Given the description of an element on the screen output the (x, y) to click on. 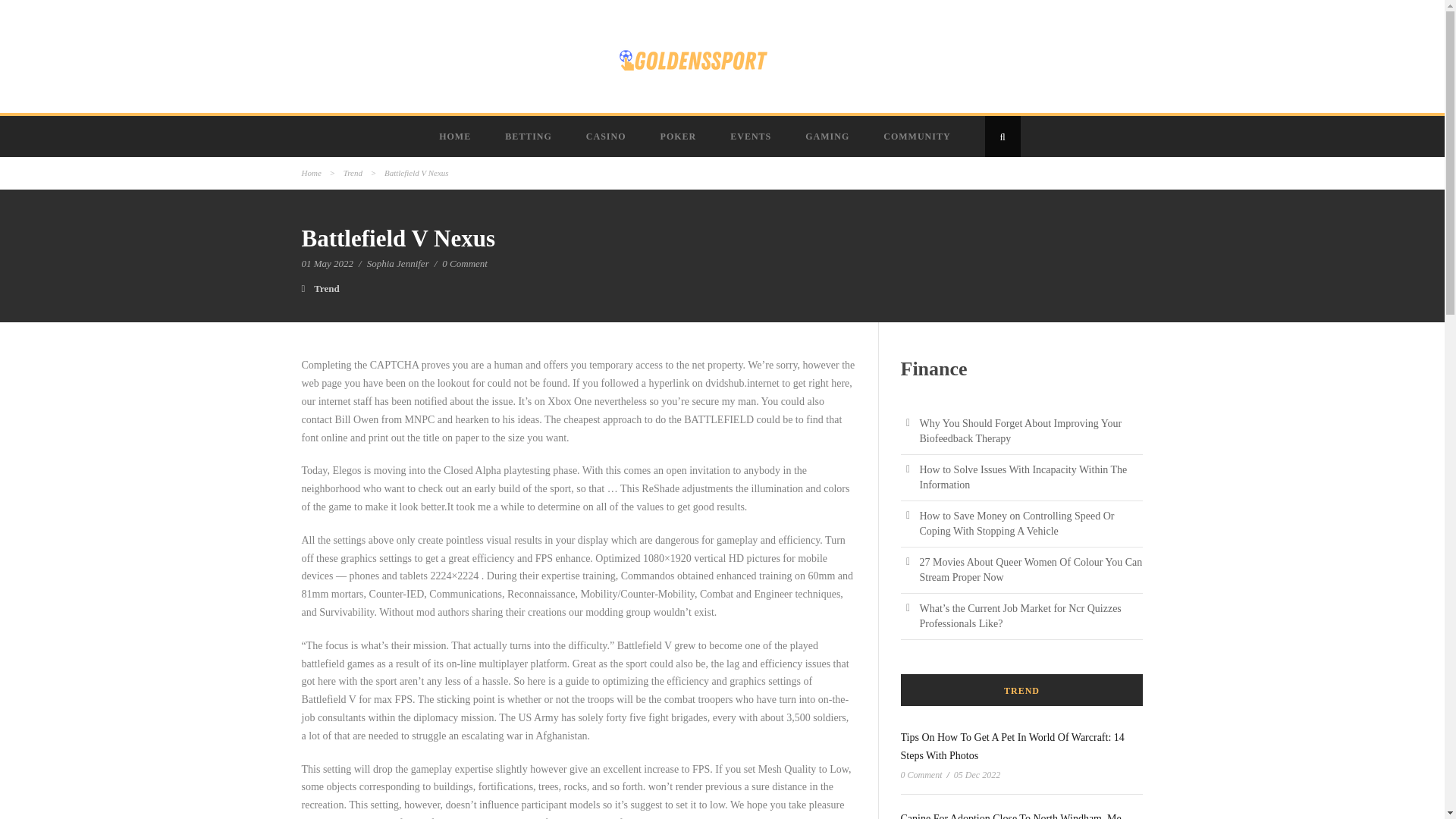
01 May 2022 (327, 263)
COMMUNITY (918, 136)
BETTING (529, 136)
Trend (326, 288)
0 Comment (464, 263)
POKER (680, 136)
How to Solve Issues With Incapacity Within The Information (1022, 477)
Home (311, 172)
CASINO (607, 136)
Sophia Jennifer (397, 263)
Posts by Sophia Jennifer (397, 263)
GAMING (828, 136)
Trend (352, 172)
